Given the description of an element on the screen output the (x, y) to click on. 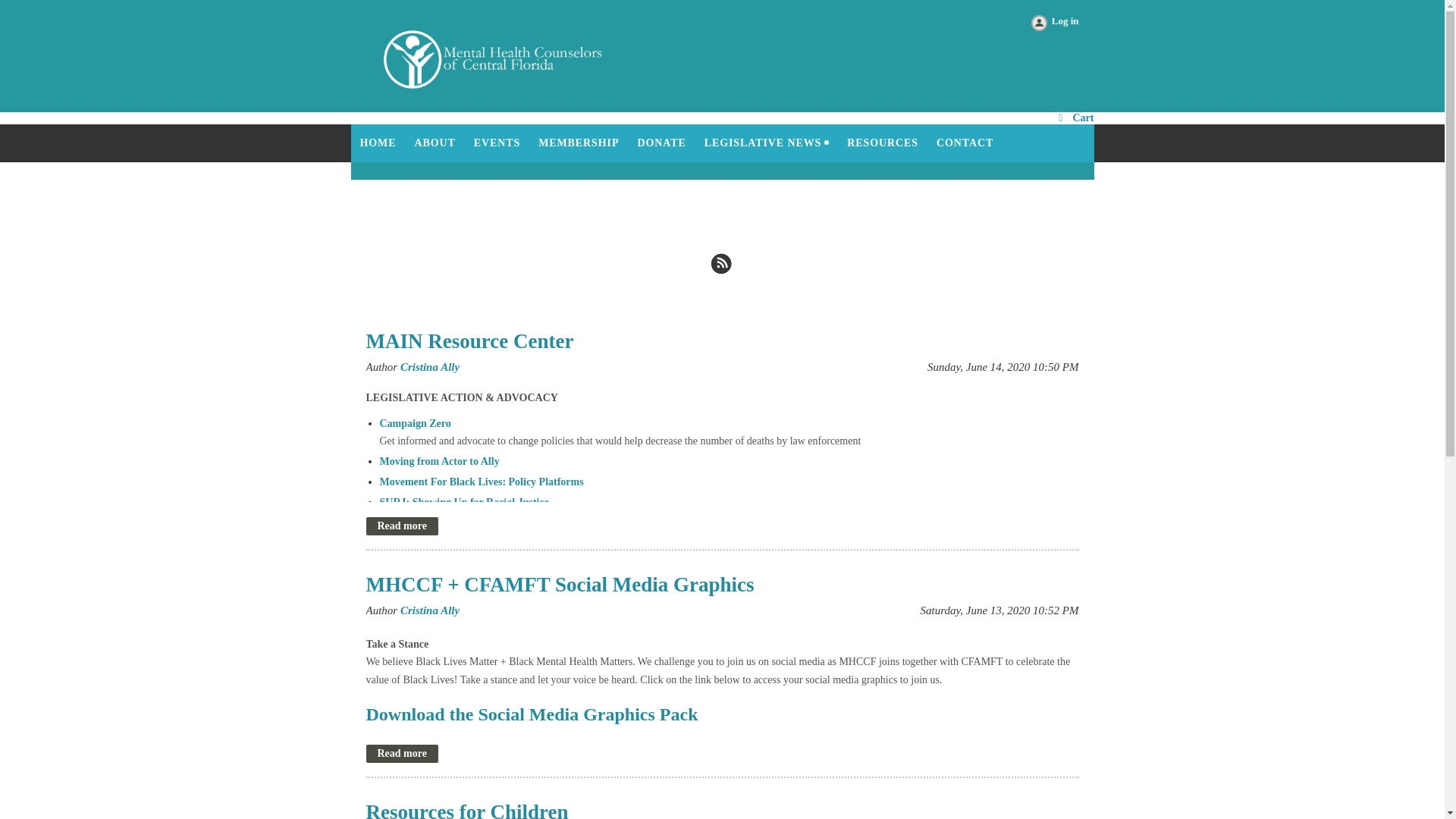
DONATE (660, 143)
Cristina Ally (430, 367)
Resources (882, 143)
Cristina Ally (430, 610)
RESOURCES (882, 143)
CONTACT (965, 143)
Legislative News (766, 143)
Download the Social Media Graphics Pack (531, 716)
EVENTS (496, 143)
MAIN Resource Center (469, 341)
Membership (578, 143)
LEGISLATIVE NEWS (766, 143)
ABOUT (434, 143)
Moving from Actor to Ally (438, 460)
Read more (401, 753)
